Given the description of an element on the screen output the (x, y) to click on. 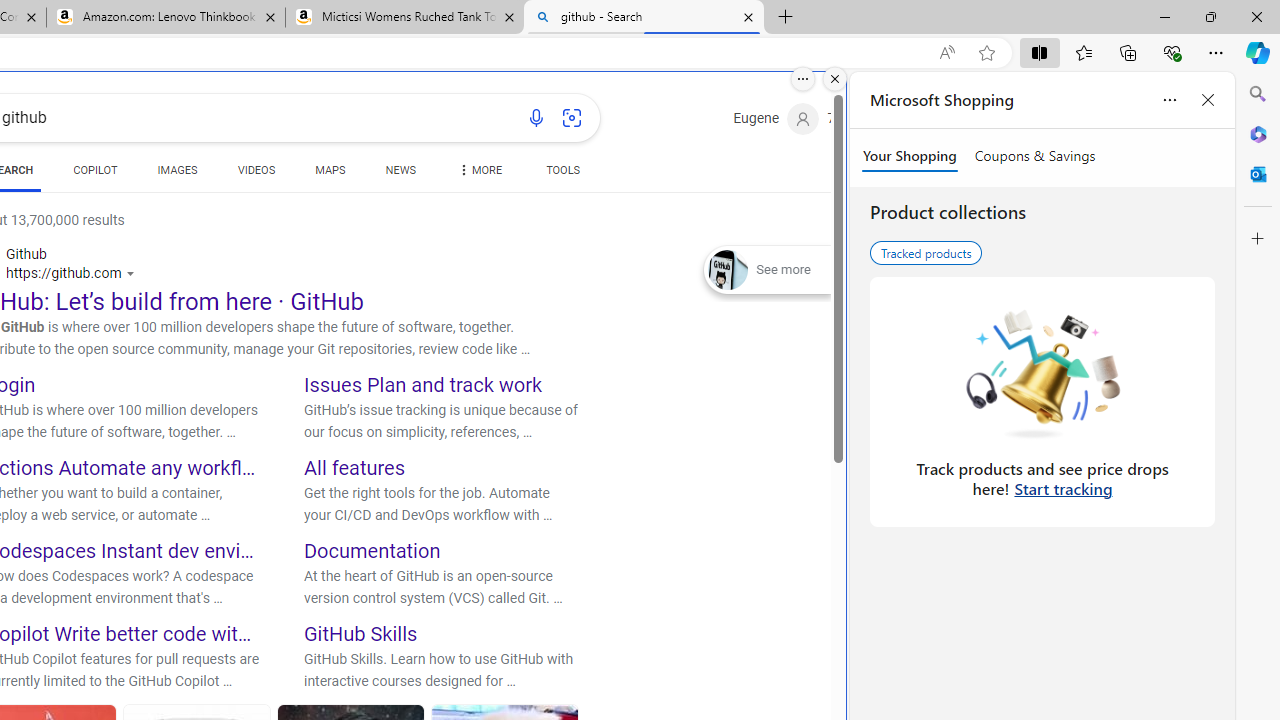
COPILOT (95, 173)
MAPS (330, 173)
Close split screen. (835, 79)
More options. (803, 79)
GitHub Skills (361, 632)
Microsoft Rewards 75 (856, 119)
